Given the description of an element on the screen output the (x, y) to click on. 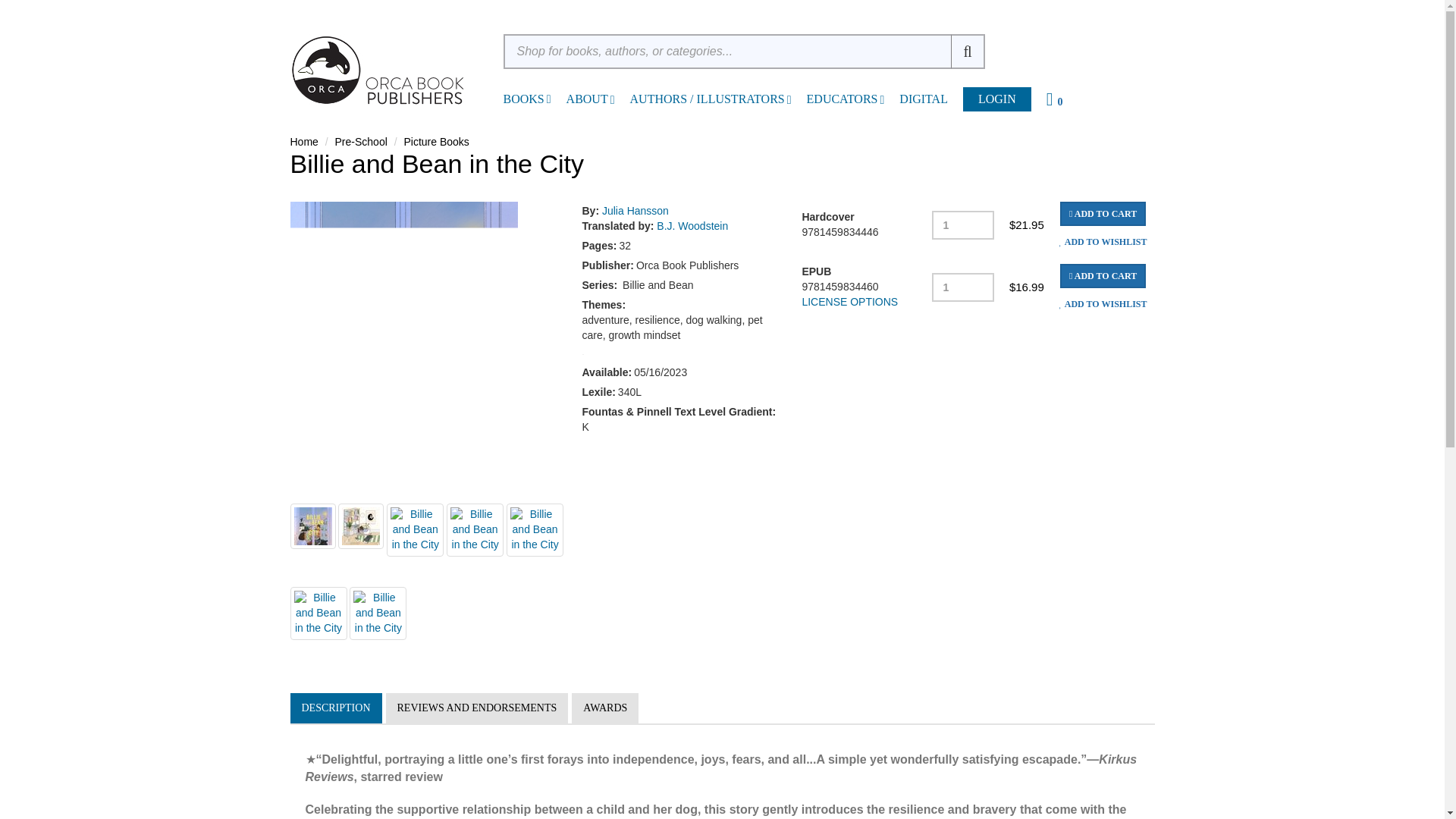
Billie and Bean in the City (415, 529)
Billie and Bean in the City (474, 529)
BOOKS (523, 98)
Billie and Bean in the City (360, 525)
Billie and Bean in the City (311, 525)
1 (962, 224)
Billie and Bean in the City (534, 529)
1 (962, 287)
Billie and Bean in the City (317, 613)
Billie and Bean in the City (377, 613)
